Given the description of an element on the screen output the (x, y) to click on. 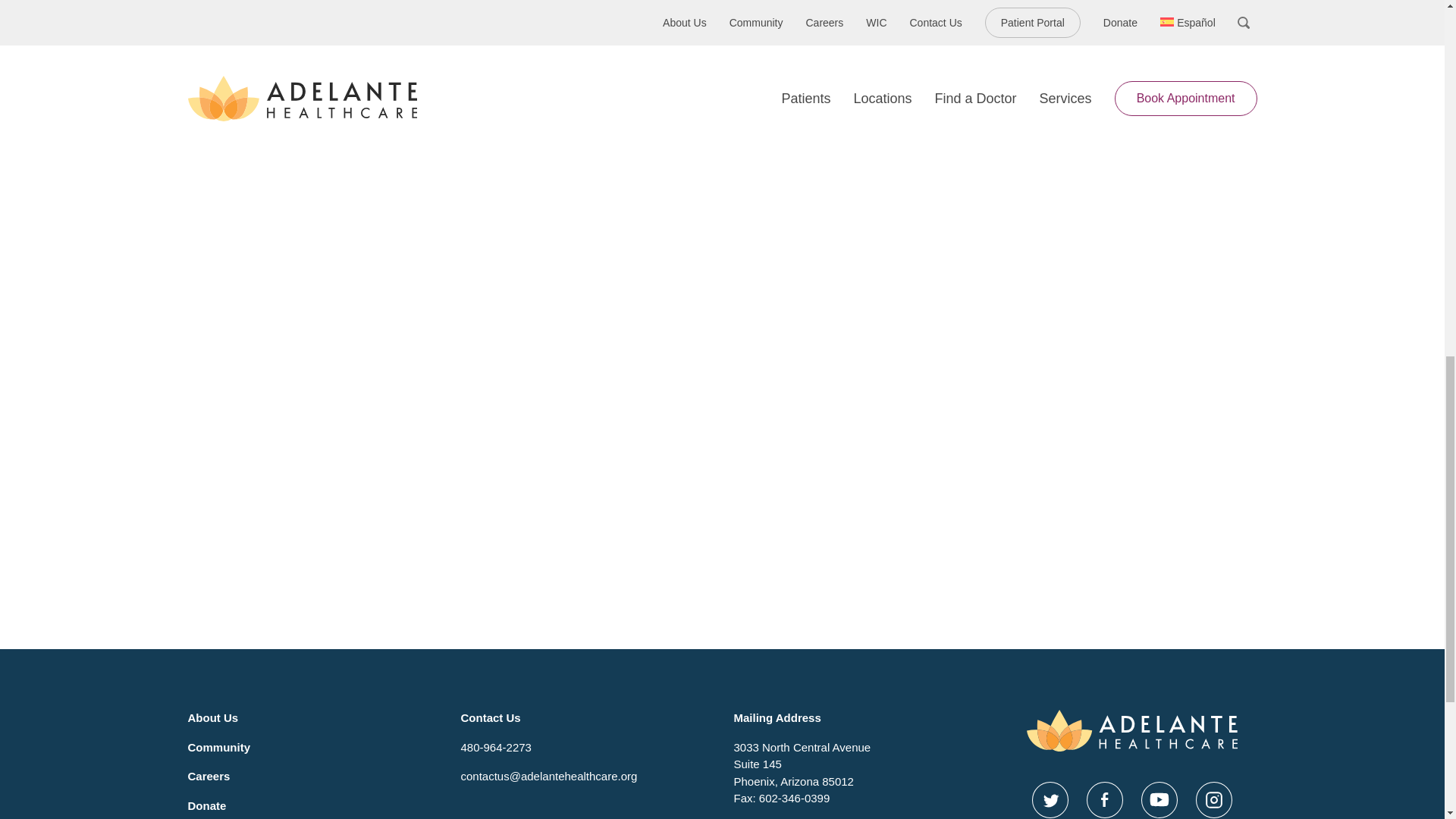
Facebook (1104, 800)
Instagram (1213, 800)
Twitter (1048, 800)
Adelante Healthcare (1131, 730)
YouTube (1158, 800)
